Given the description of an element on the screen output the (x, y) to click on. 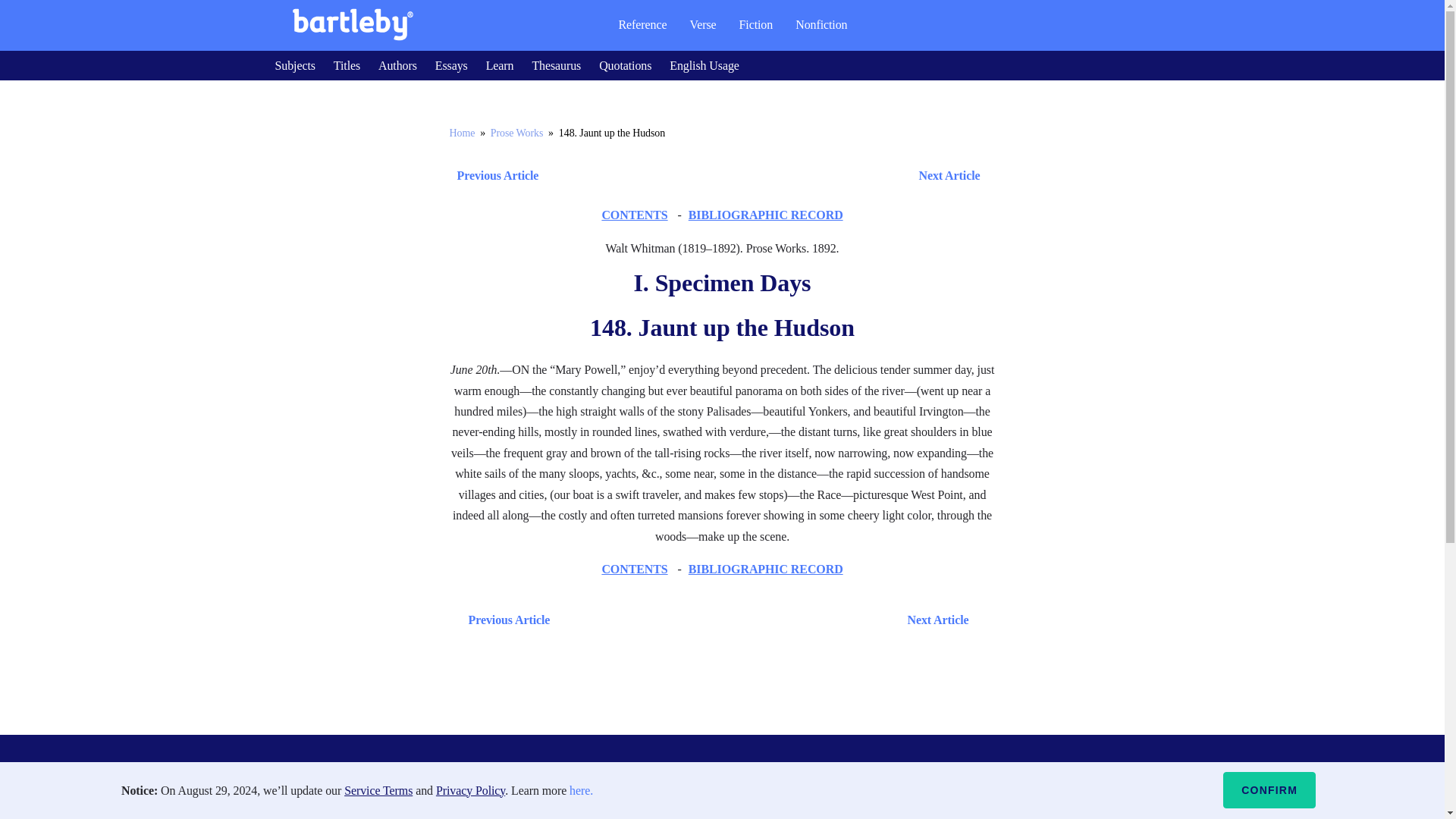
Verse (702, 24)
Quotations (624, 65)
Subjects (294, 65)
Previous Article (505, 619)
BIBLIOGRAPHIC RECORD (765, 214)
Fiction (756, 24)
Essays (451, 65)
Titles (346, 65)
BIBLIOGRAPHIC RECORD (765, 568)
CONTENTS (633, 568)
